Given the description of an element on the screen output the (x, y) to click on. 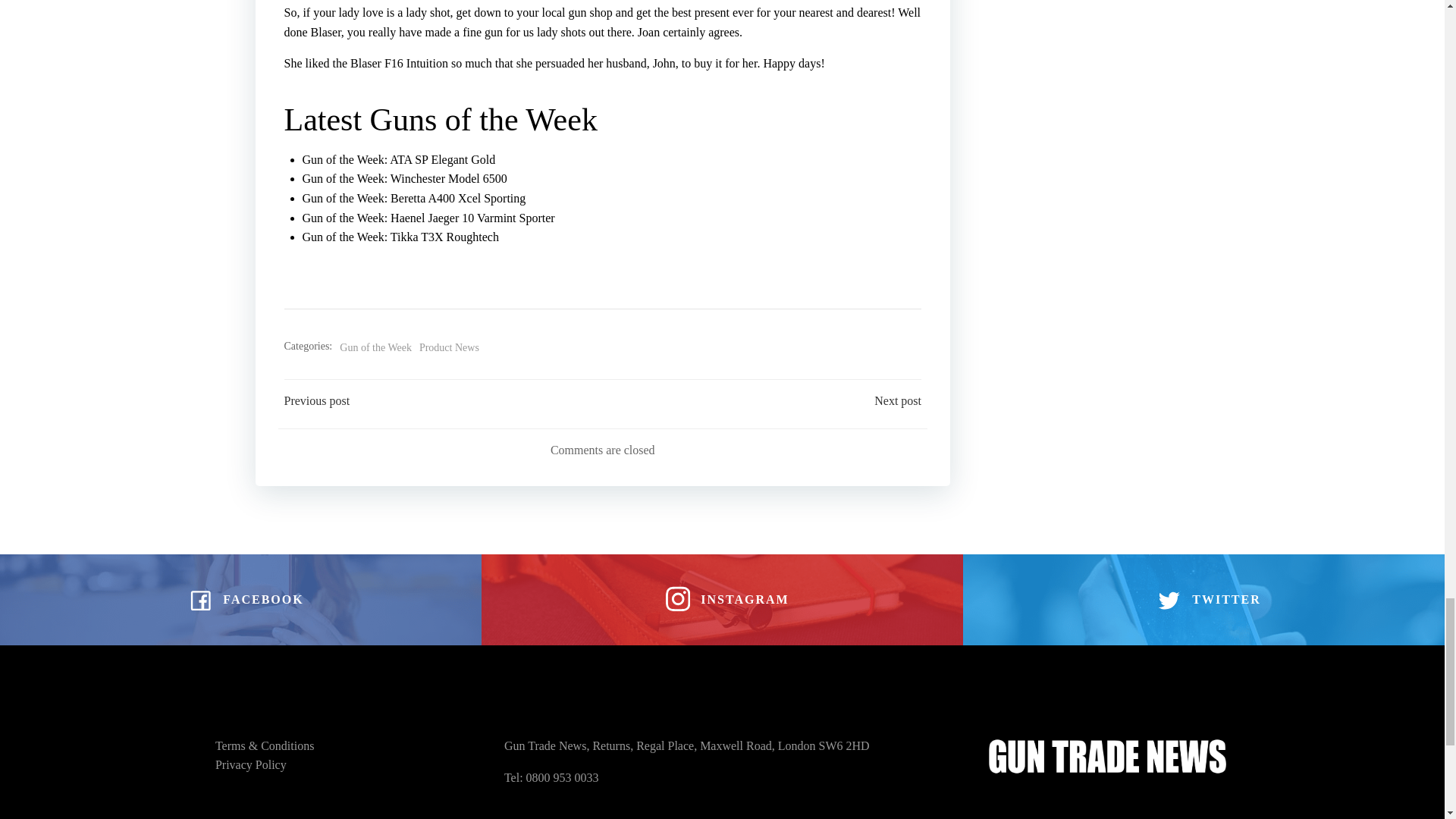
FACEBOOK (239, 599)
Next post (898, 401)
Gun of the Week: ATA SP Elegant Gold (398, 159)
TWITTER (1203, 599)
Product News (449, 347)
Gun of the Week: Haenel Jaeger 10 Varmint Sporter (427, 216)
Gun of the Week: Tikka T3X Roughtech (399, 236)
Privacy Policy (250, 764)
Gun of the Week: Beretta A400 Xcel Sporting (413, 197)
Previous post (316, 401)
INSTAGRAM (722, 599)
Gun of the Week (375, 347)
Gun of the Week: Winchester Model 6500 (403, 178)
